Given the description of an element on the screen output the (x, y) to click on. 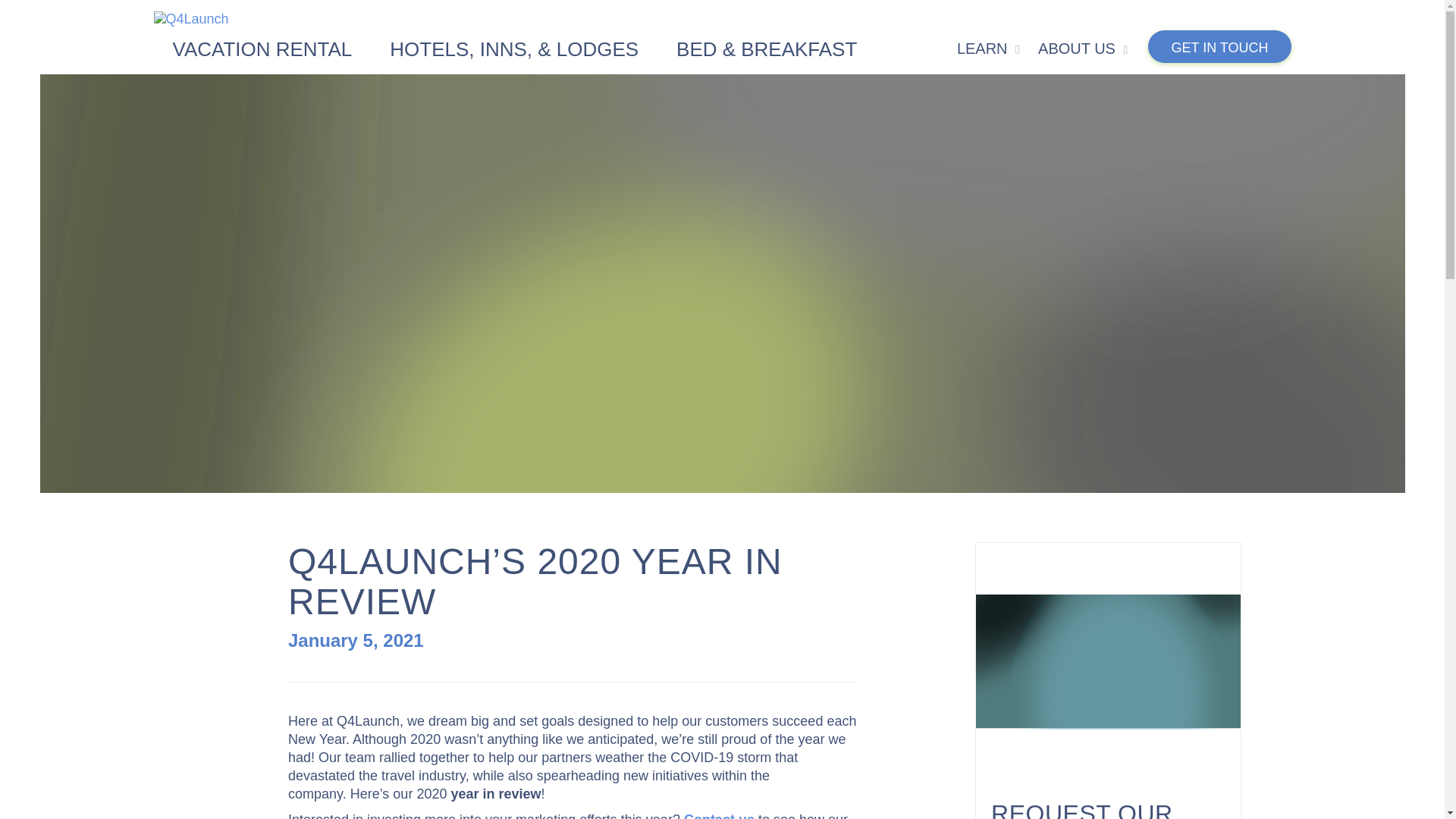
Learn (985, 46)
About Us (1080, 46)
GET IN TOUCH (1219, 46)
Vacation Rental (261, 46)
ABOUT US (1080, 46)
VACATION RENTAL (261, 46)
Get in Touch (1219, 46)
LEARN (985, 46)
home (721, 18)
